Given the description of an element on the screen output the (x, y) to click on. 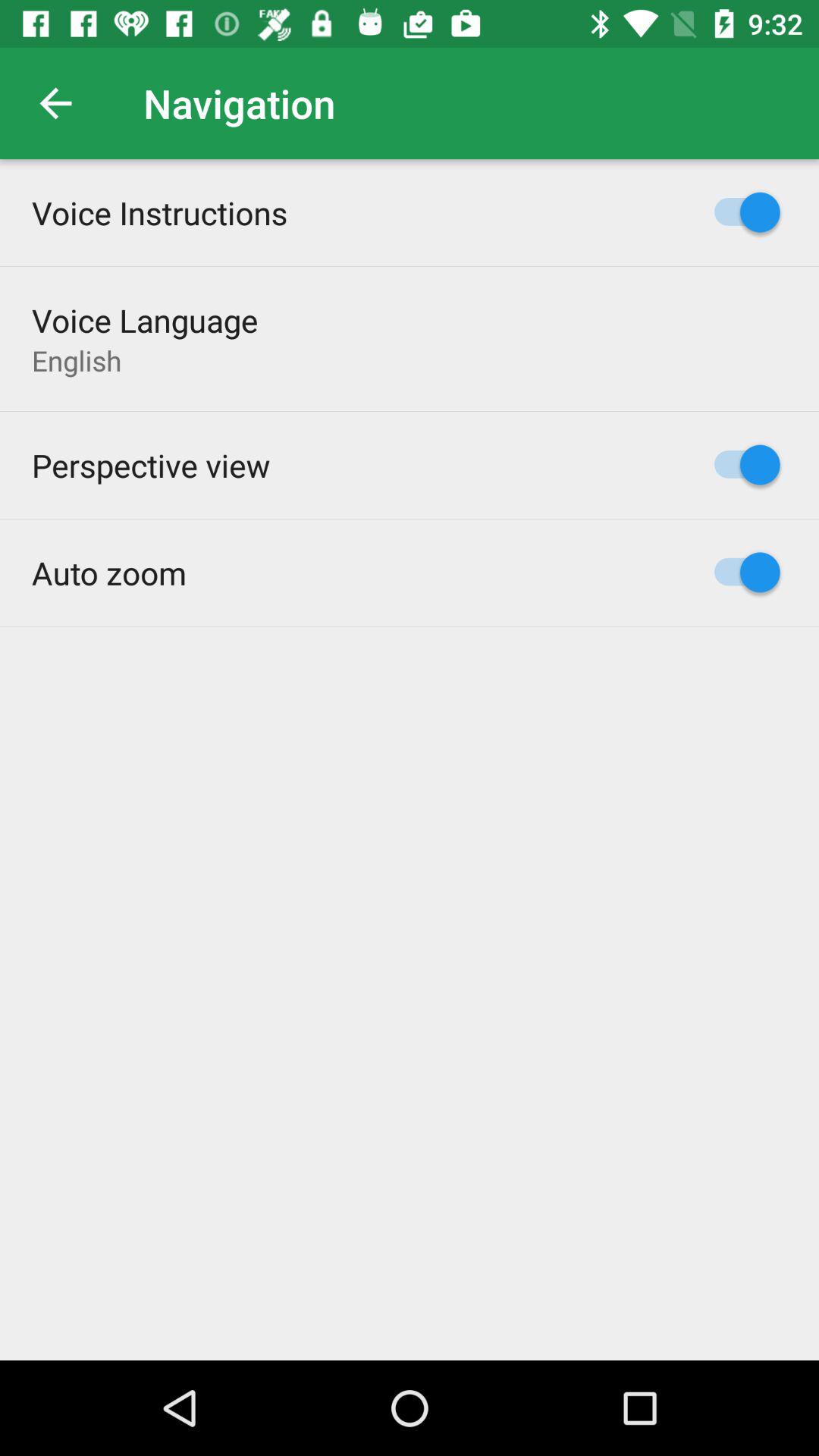
jump to auto zoom item (108, 572)
